Given the description of an element on the screen output the (x, y) to click on. 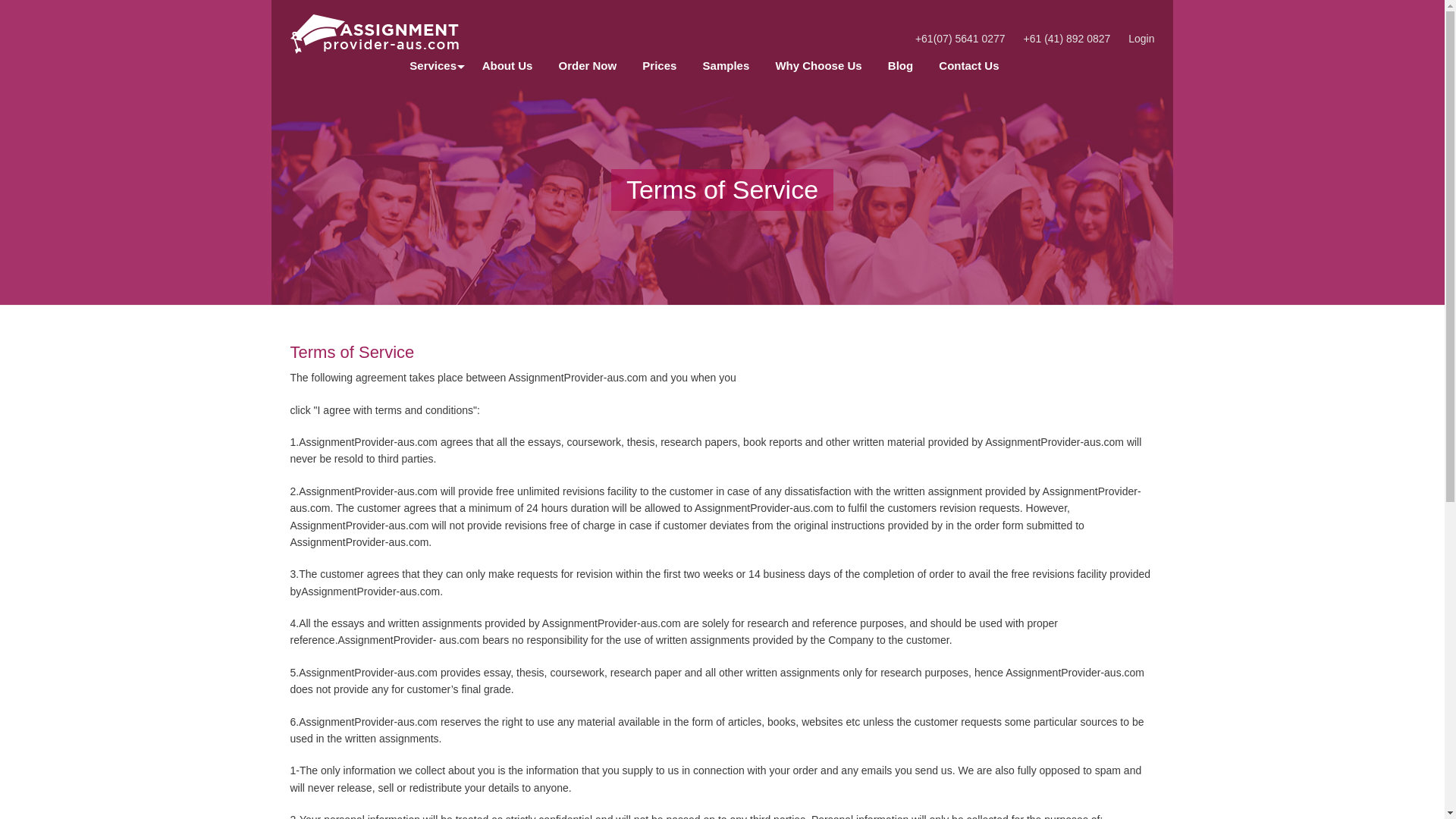
 Services (427, 65)
Login (1137, 38)
Assignment Provider Australia (389, 32)
